Given the description of an element on the screen output the (x, y) to click on. 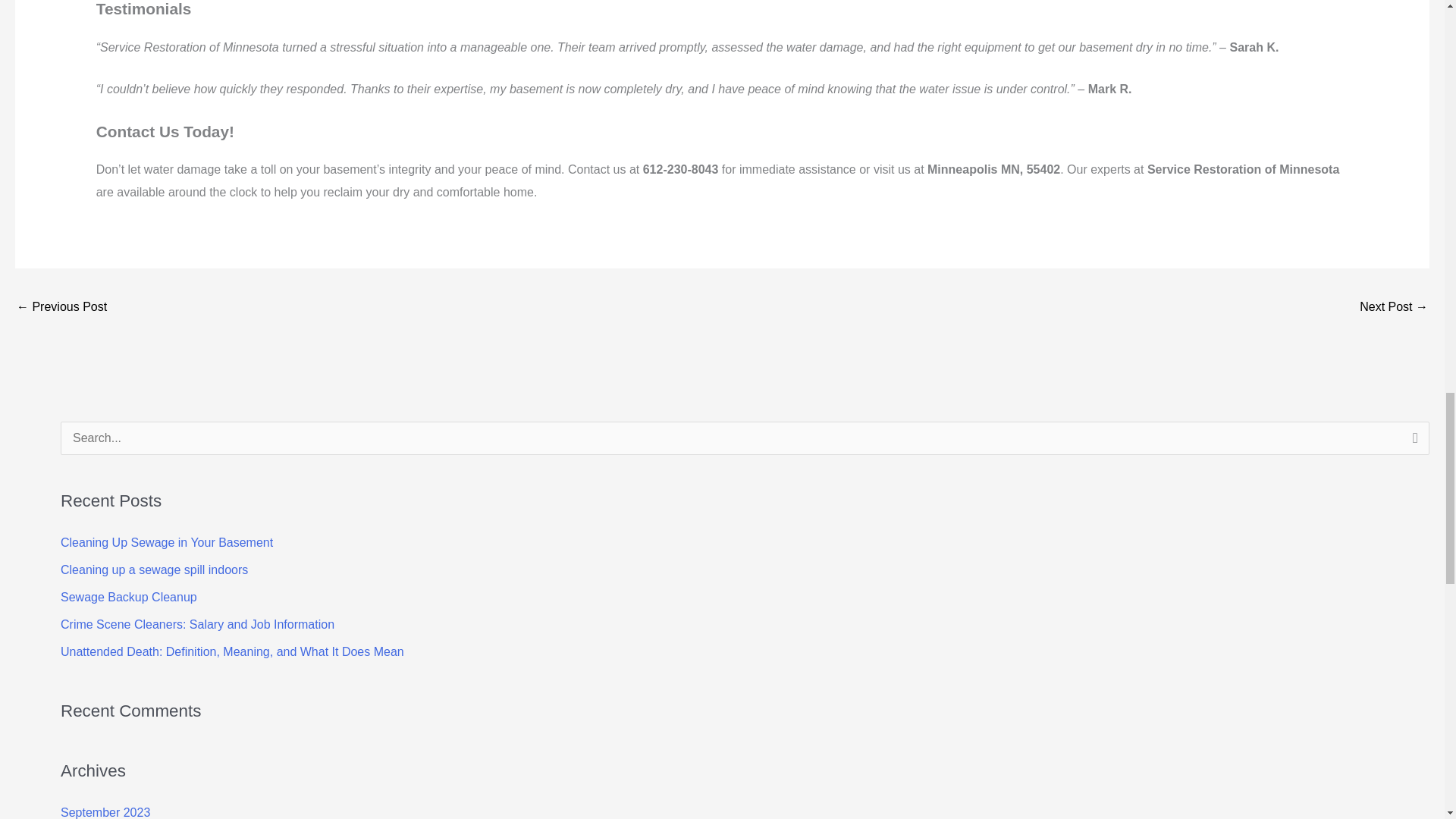
Search (1411, 442)
Search (1411, 442)
Fixing Water Damage: Get Rid of It Now (1393, 308)
Should Carpet Be Replaced After Water Damage? (61, 308)
